Given the description of an element on the screen output the (x, y) to click on. 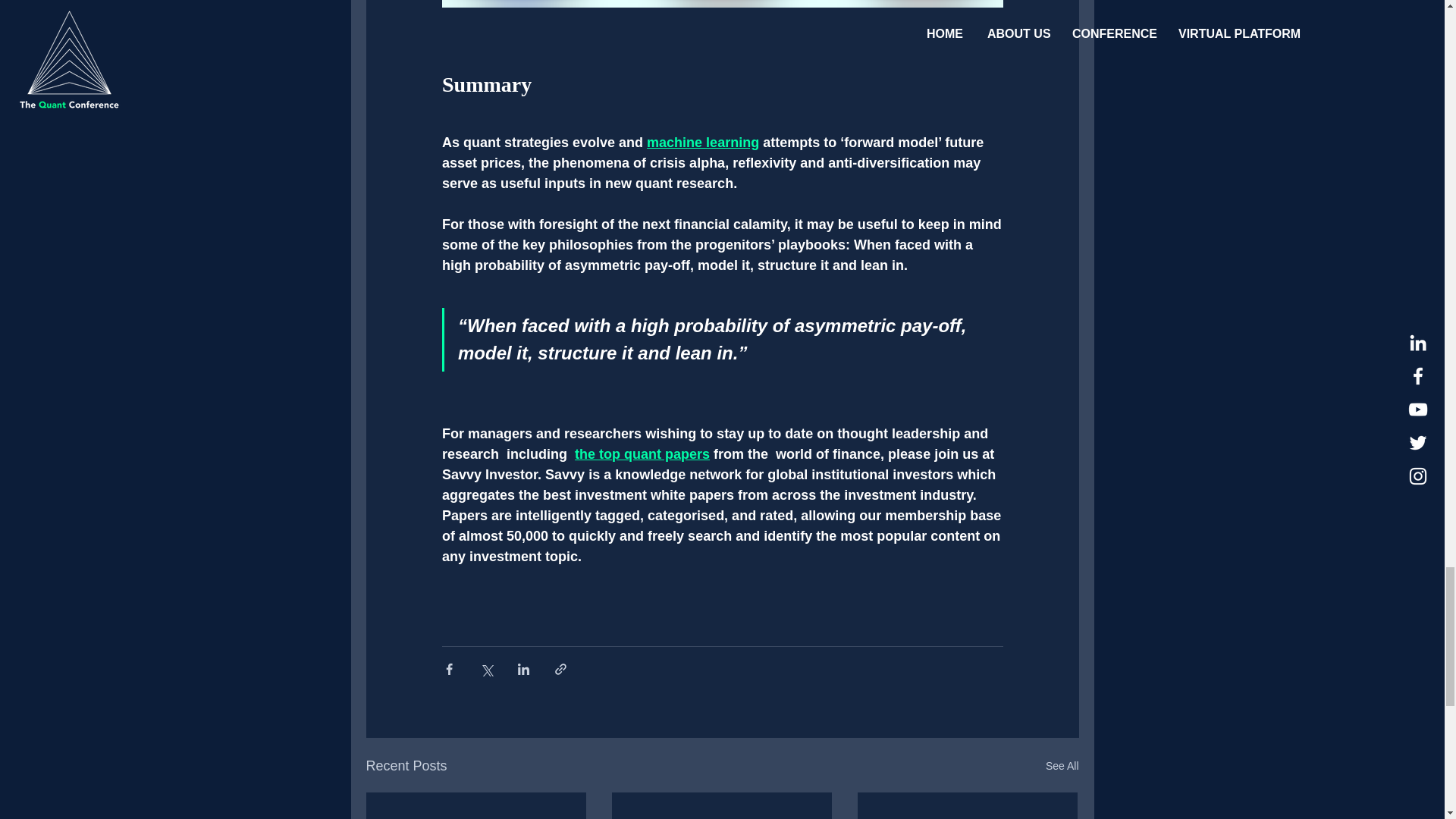
See All (1061, 766)
machine learning (702, 142)
the top quant papers (642, 453)
